Given the description of an element on the screen output the (x, y) to click on. 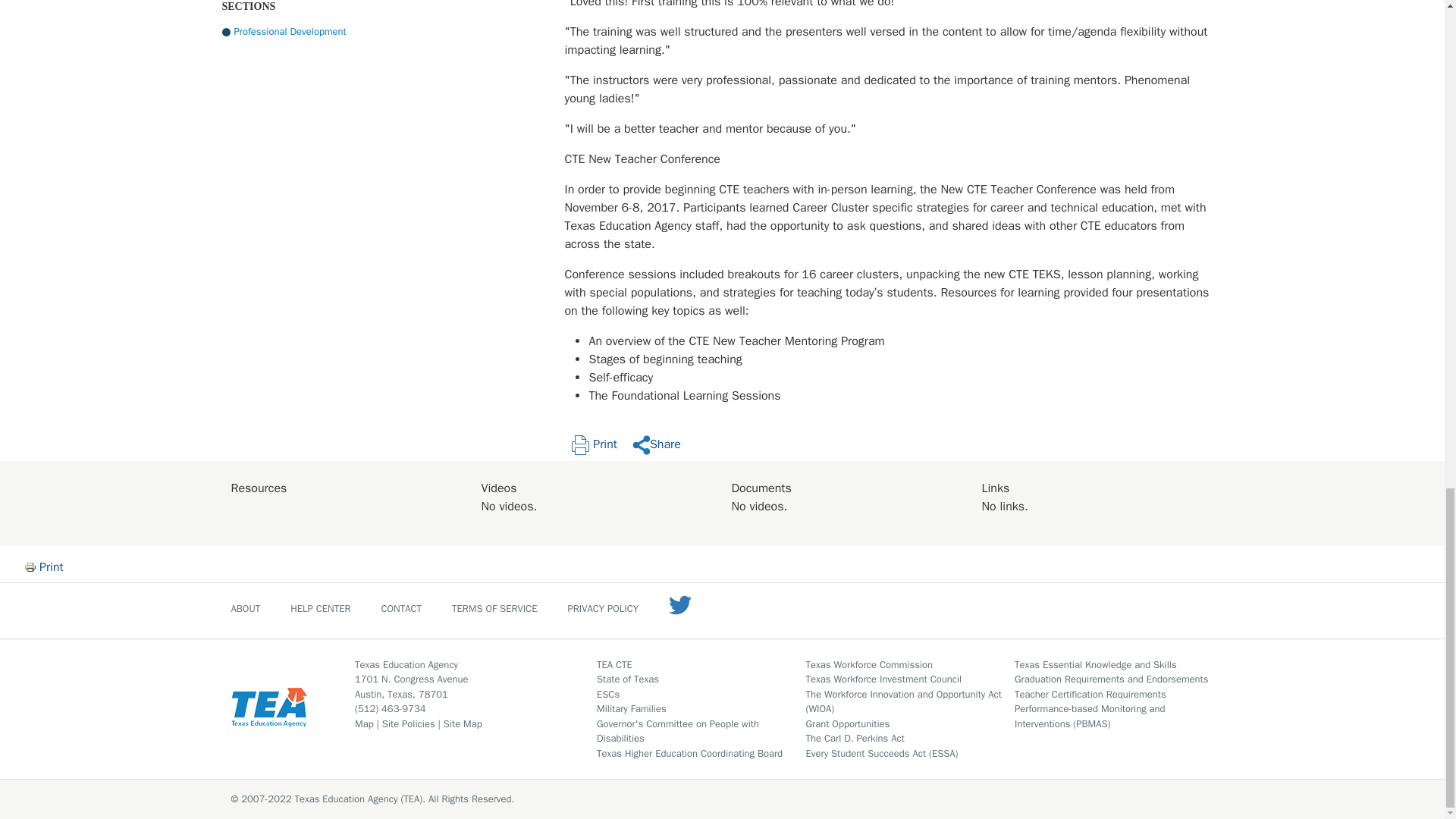
TERMS OF SERVICE (494, 607)
TEA CTE (613, 663)
ABOUT (245, 607)
TEA Map (364, 722)
Site Map (462, 722)
Site Map (462, 722)
Share (656, 444)
Texas Education Agency (406, 663)
Texas Education Agency (406, 663)
HELP CENTER (319, 607)
CONTACT (401, 607)
Map (364, 722)
Print (51, 566)
State of Texas (627, 678)
PRIVACY POLICY (603, 607)
